Given the description of an element on the screen output the (x, y) to click on. 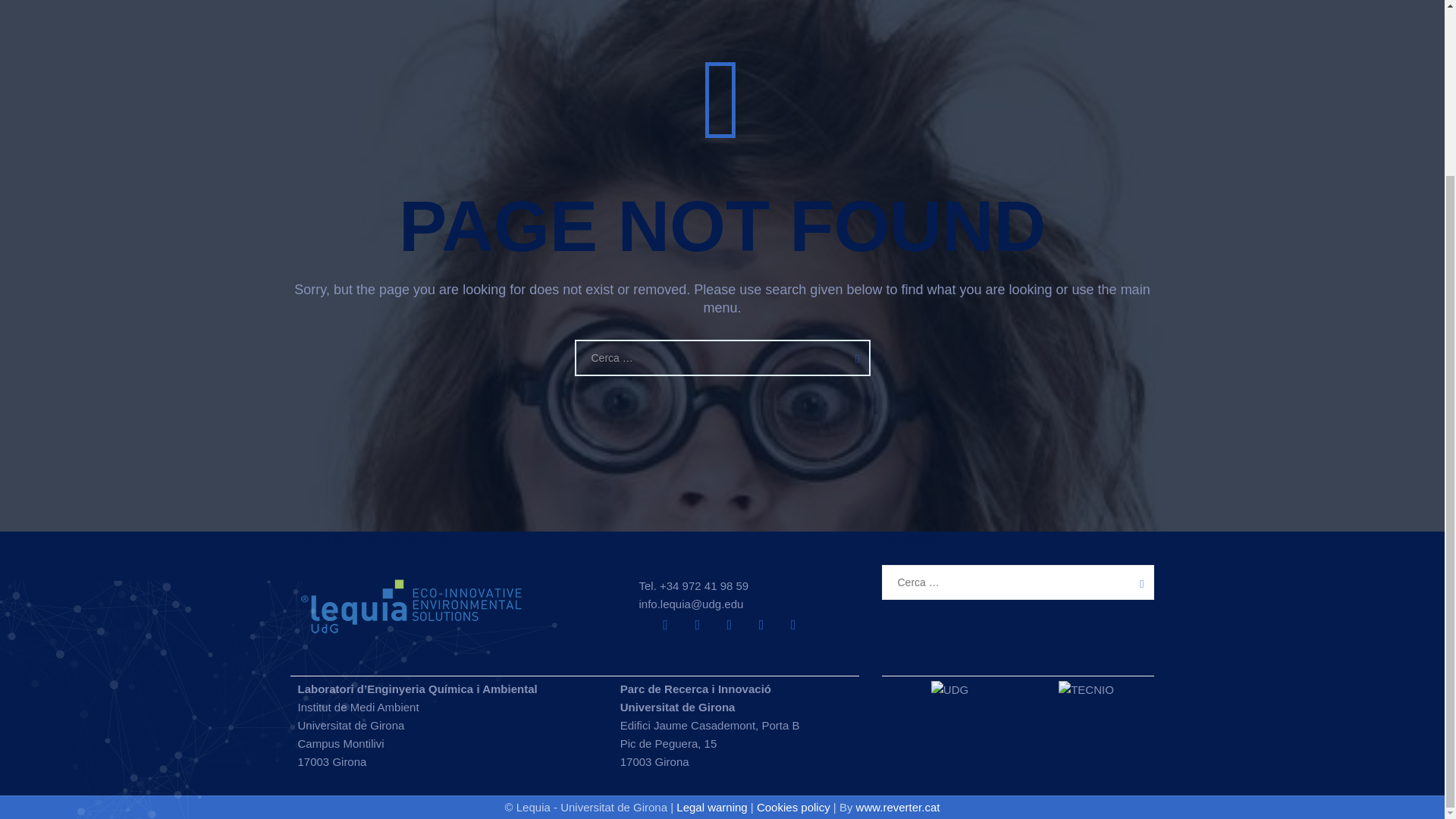
LinkedIn (697, 624)
Twitter (665, 624)
Cerca (1136, 582)
Cerca (852, 356)
Instagram (729, 624)
Cerca (1136, 582)
Facebook (793, 624)
Cerca (852, 356)
YouTube (761, 624)
